Given the description of an element on the screen output the (x, y) to click on. 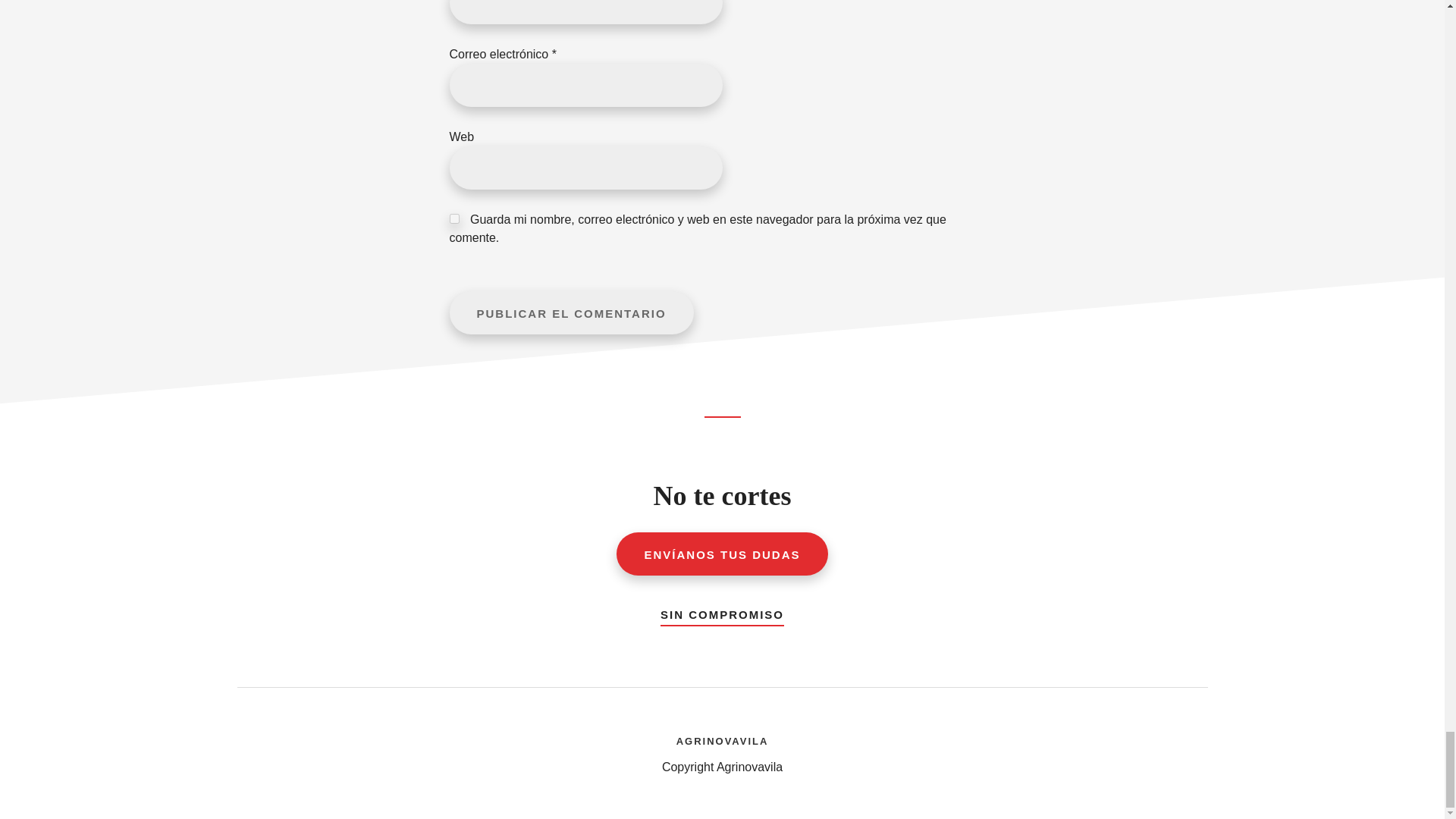
Publicar el comentario (570, 312)
SIN COMPROMISO (722, 611)
yes (453, 218)
AGRINOVAVILA (722, 739)
Publicar el comentario (570, 312)
